Given the description of an element on the screen output the (x, y) to click on. 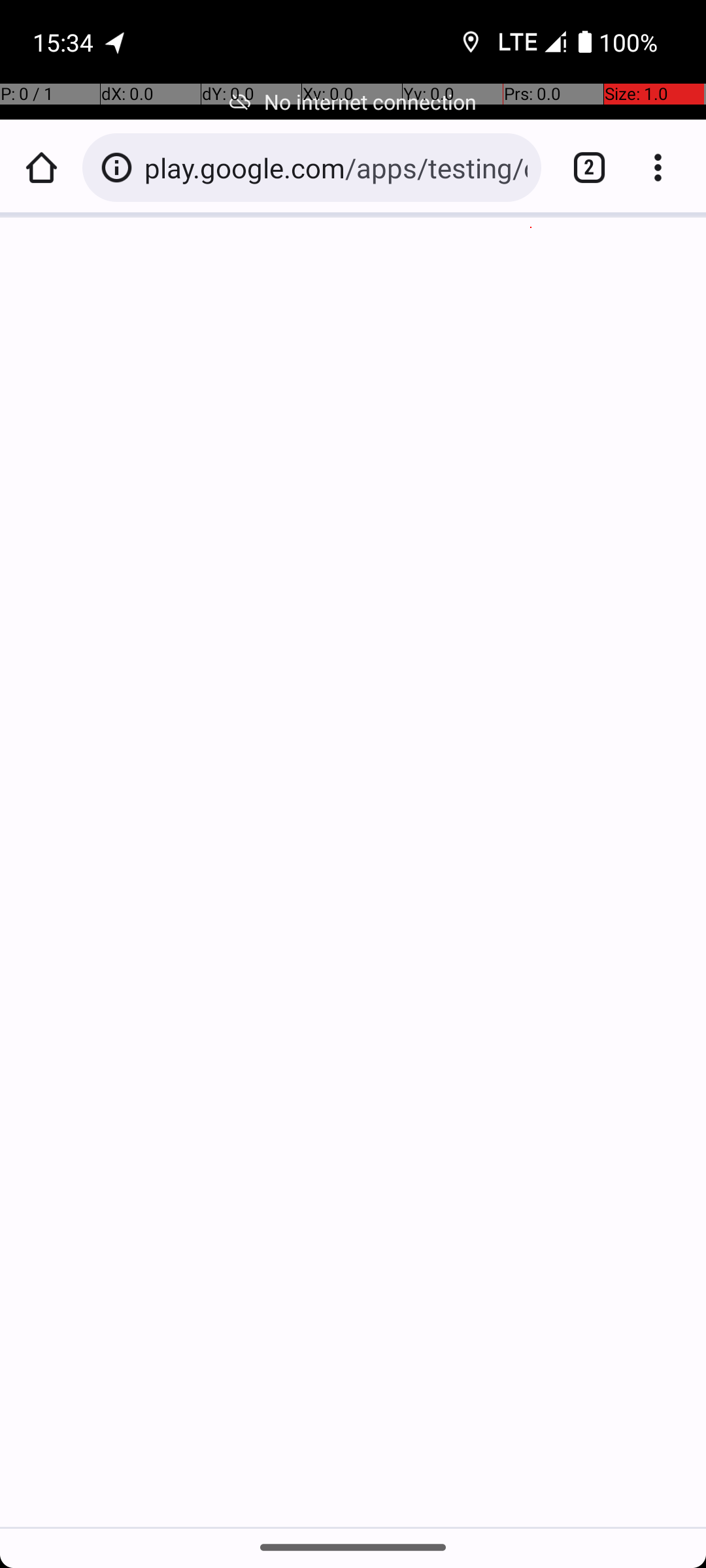
play.google.com/apps/testing/com.google.android.apps.wellbeing Element type: android.widget.EditText (335, 167)
